Given the description of an element on the screen output the (x, y) to click on. 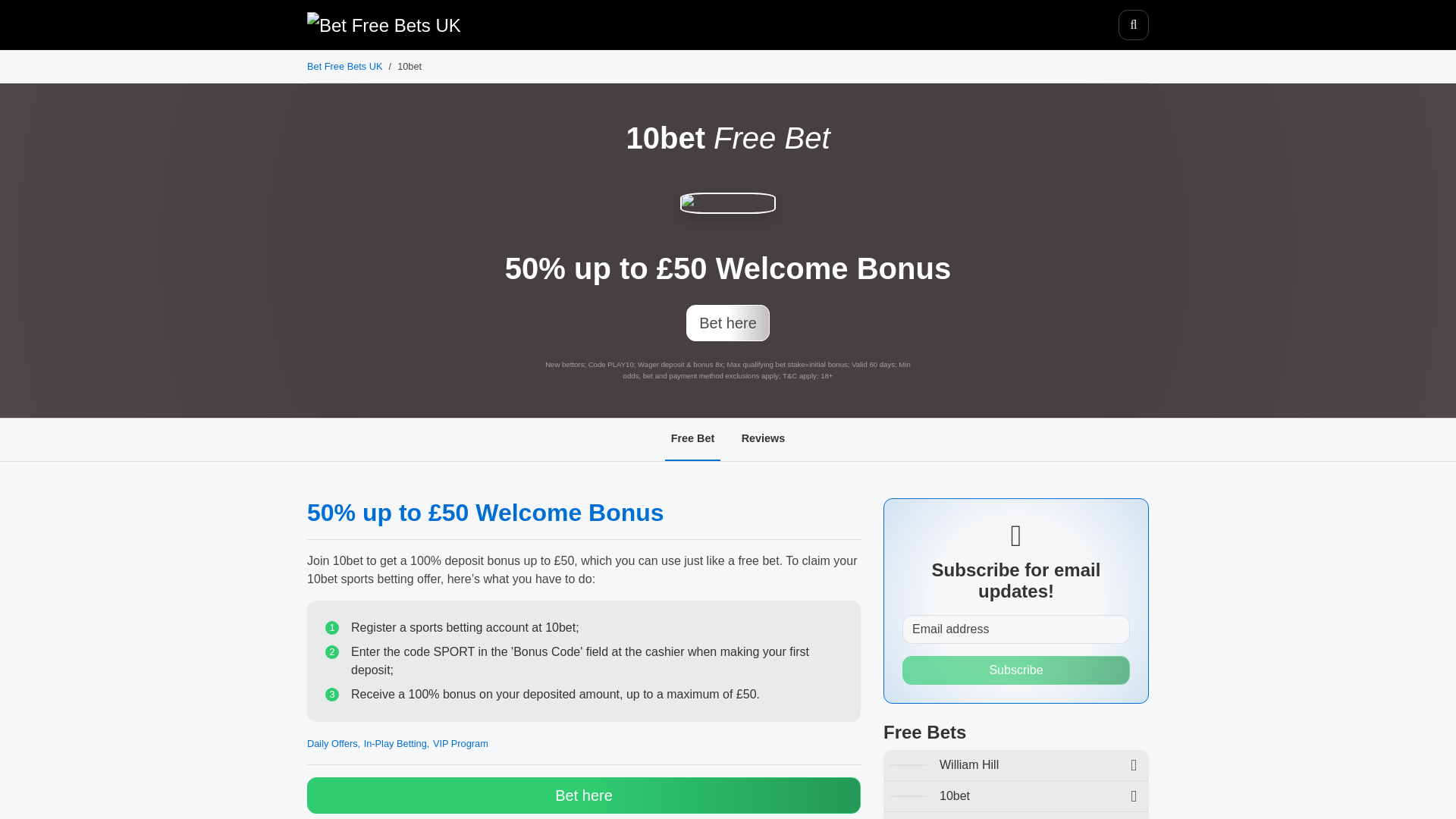
VIP Program (459, 743)
10bet Free Bet (727, 202)
In-Play Betting (396, 743)
Subscribe (1015, 670)
Bet here (583, 795)
betfreebets.uk (384, 25)
William Hill (1015, 765)
Bet Free Bets UK (344, 66)
Reviews (763, 439)
Bet here (727, 322)
